Given the description of an element on the screen output the (x, y) to click on. 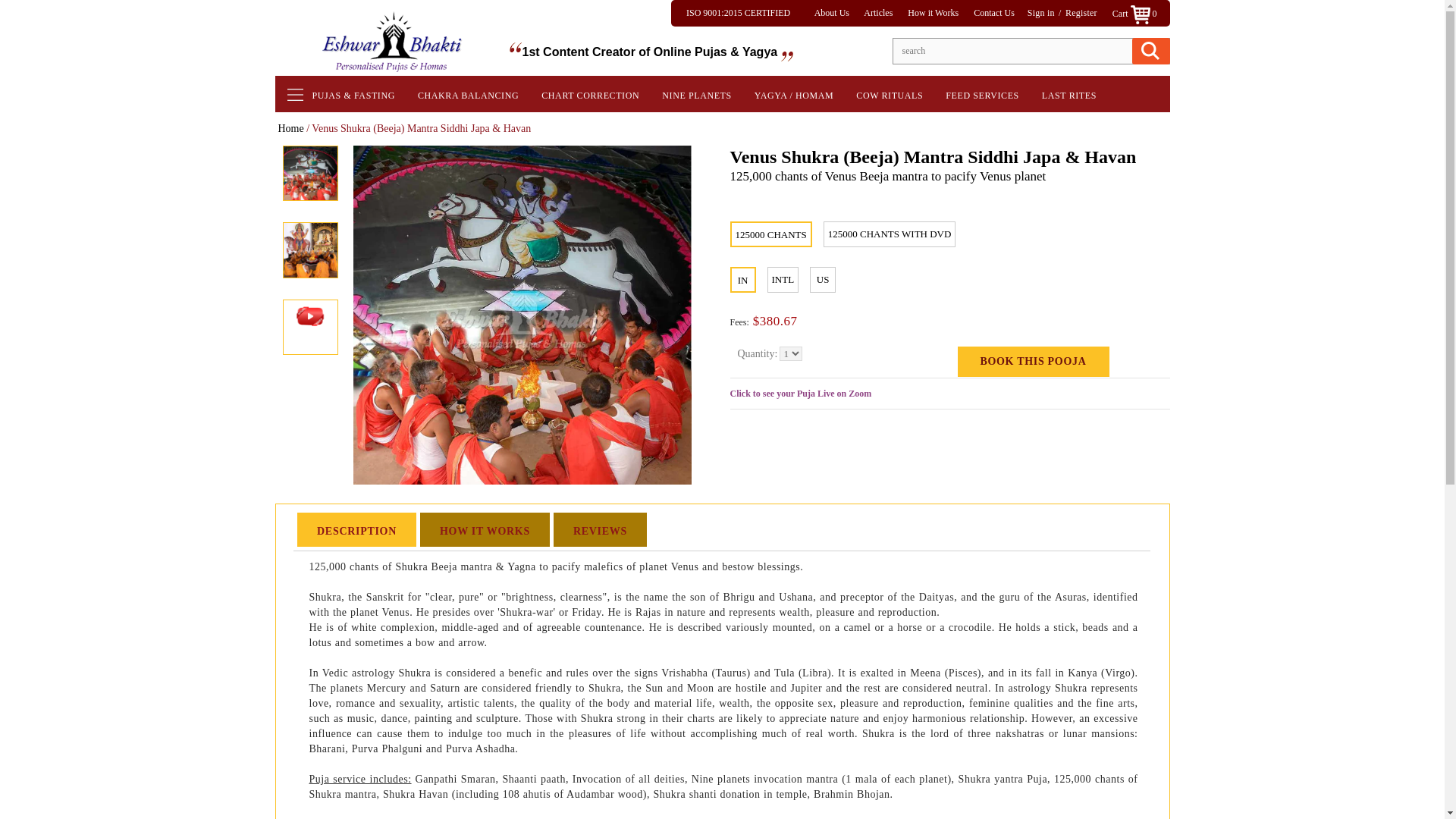
Back to the frontpage (290, 128)
ISO 9001:2015 CERTIFIED (744, 12)
About Us (837, 12)
How it Works (939, 12)
Register (1087, 12)
Sign in (1048, 12)
Book This Pooja (1032, 361)
Contact Us (1000, 12)
Cart 0 (1141, 13)
Articles (884, 12)
